Given the description of an element on the screen output the (x, y) to click on. 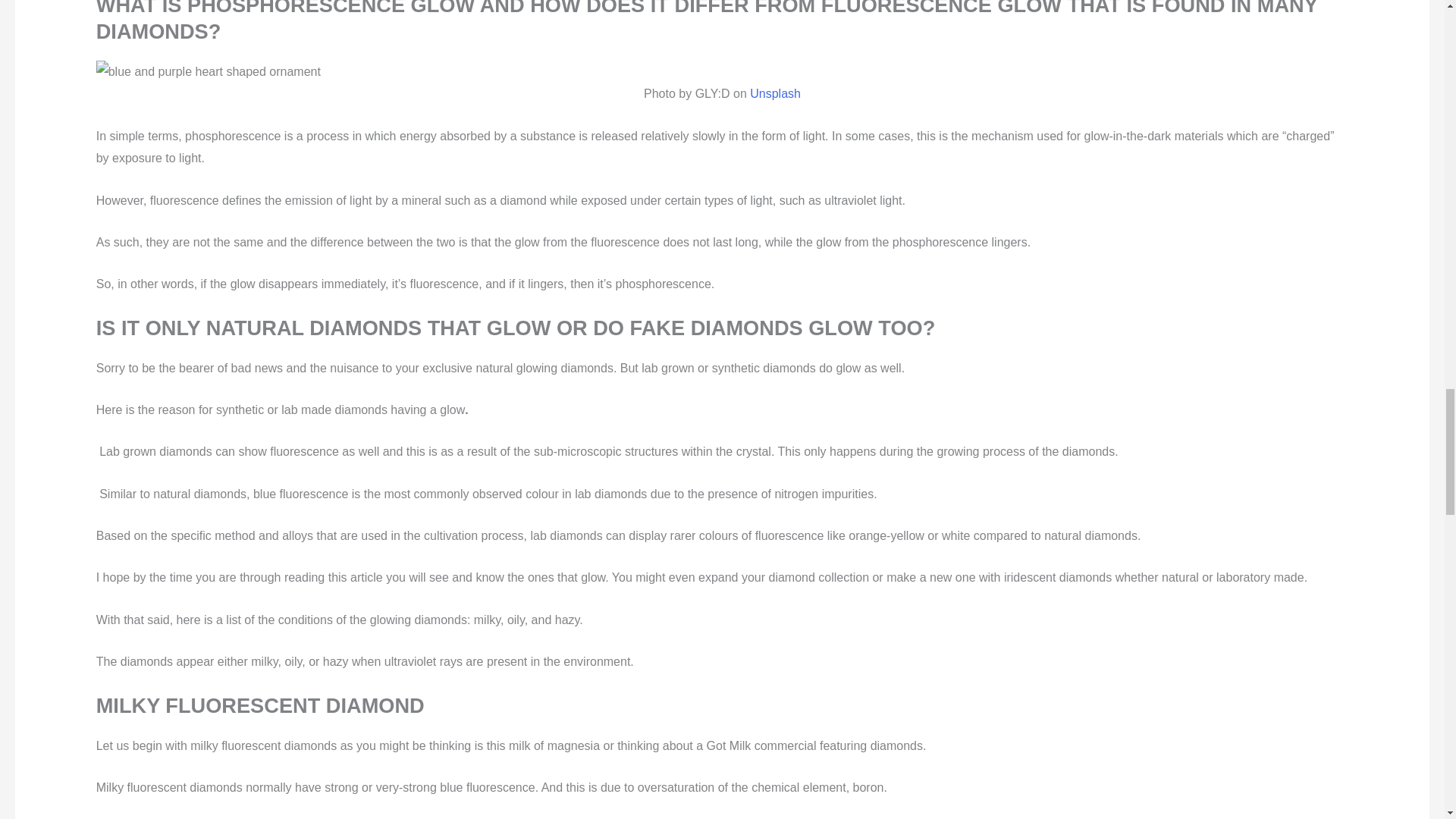
Unsplash (773, 92)
